Given the description of an element on the screen output the (x, y) to click on. 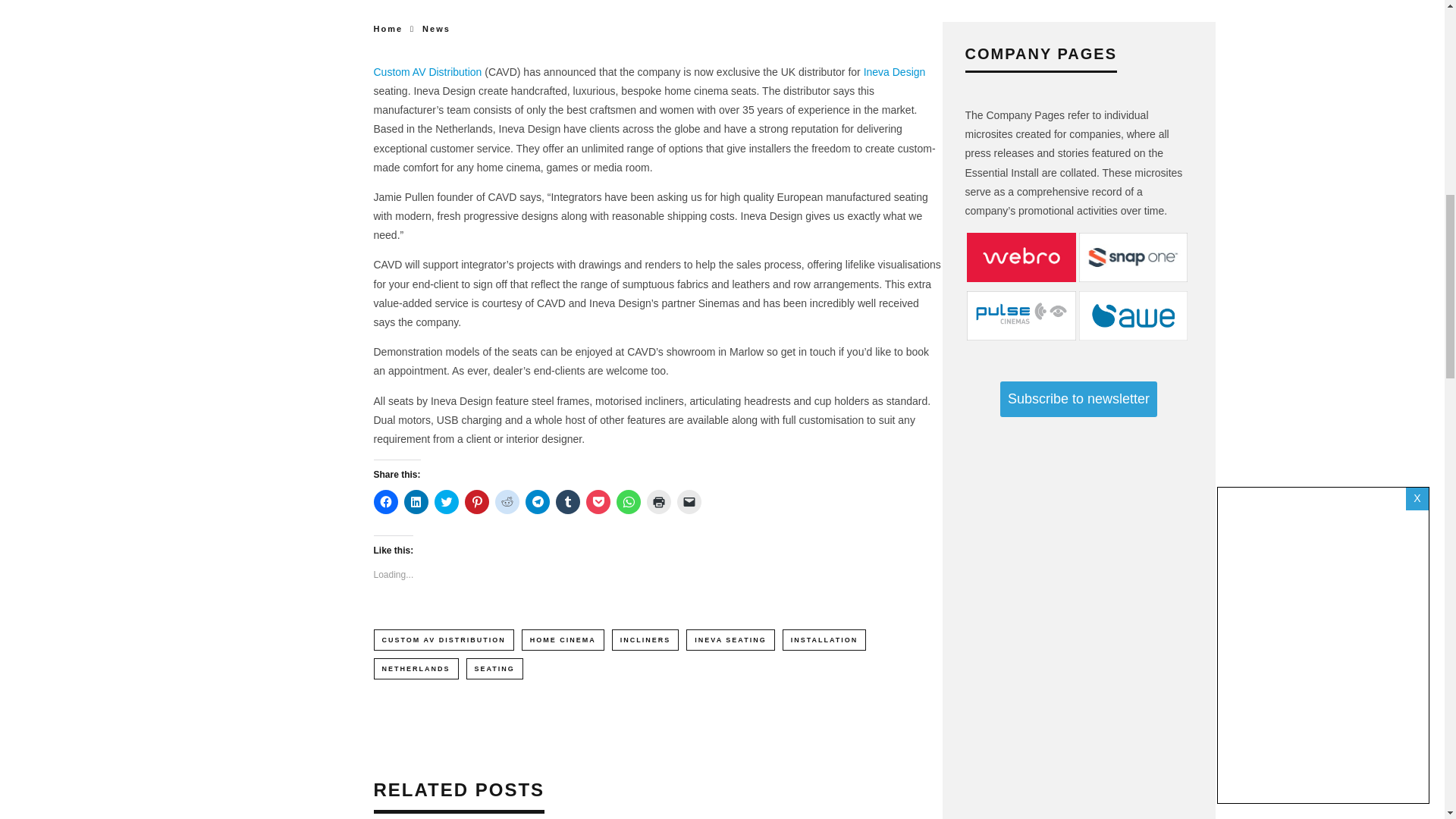
Click to share on WhatsApp (627, 501)
View all posts in News (435, 28)
Click to share on Facebook (384, 501)
Click to share on LinkedIn (415, 501)
Click to share on Tumblr (566, 501)
Click to share on Reddit (506, 501)
Click to share on Telegram (536, 501)
Click to share on Pocket (597, 501)
Click to share on Pinterest (475, 501)
Click to share on Twitter (445, 501)
